Given the description of an element on the screen output the (x, y) to click on. 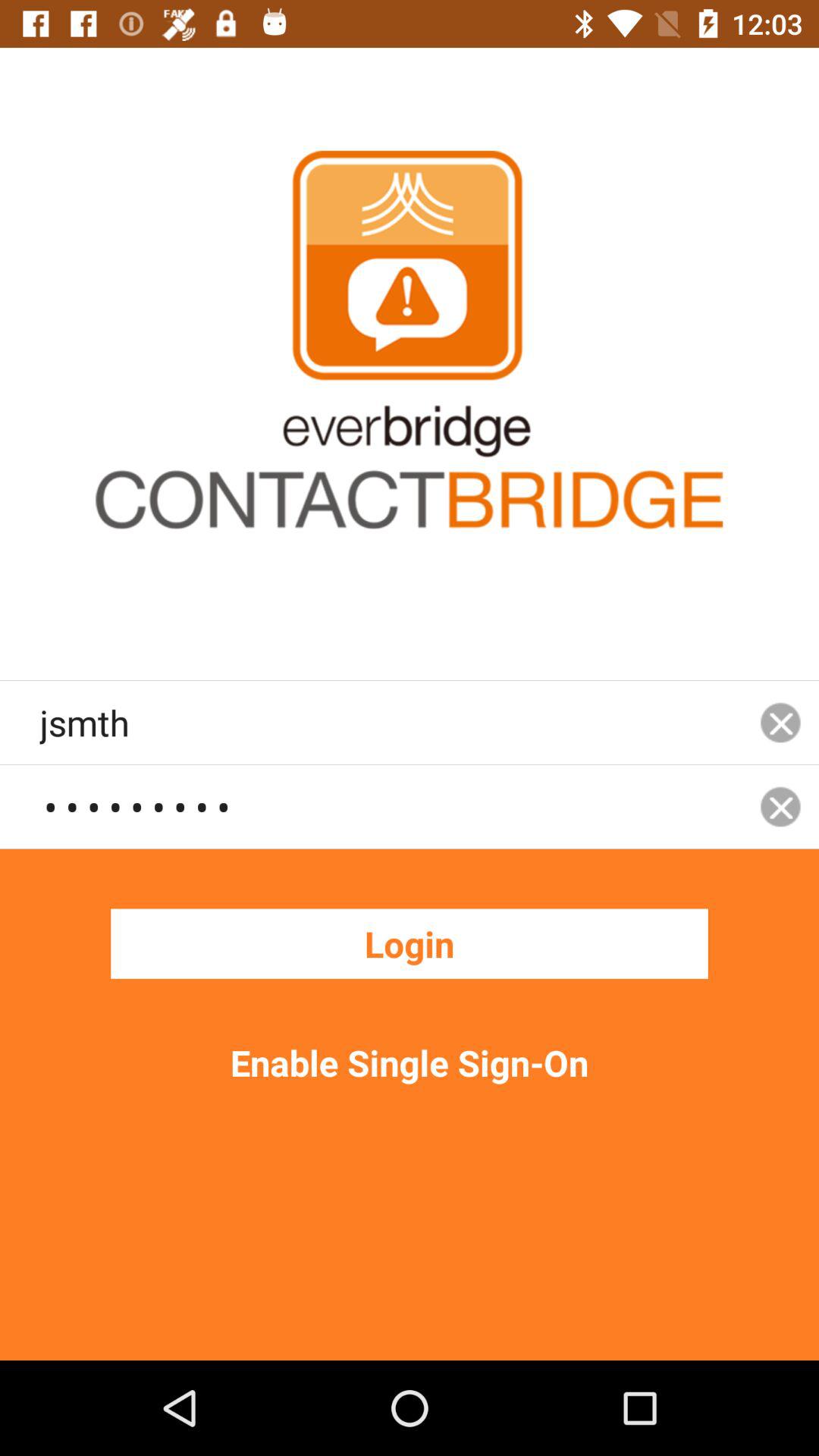
jump to enable single sign icon (409, 1062)
